Given the description of an element on the screen output the (x, y) to click on. 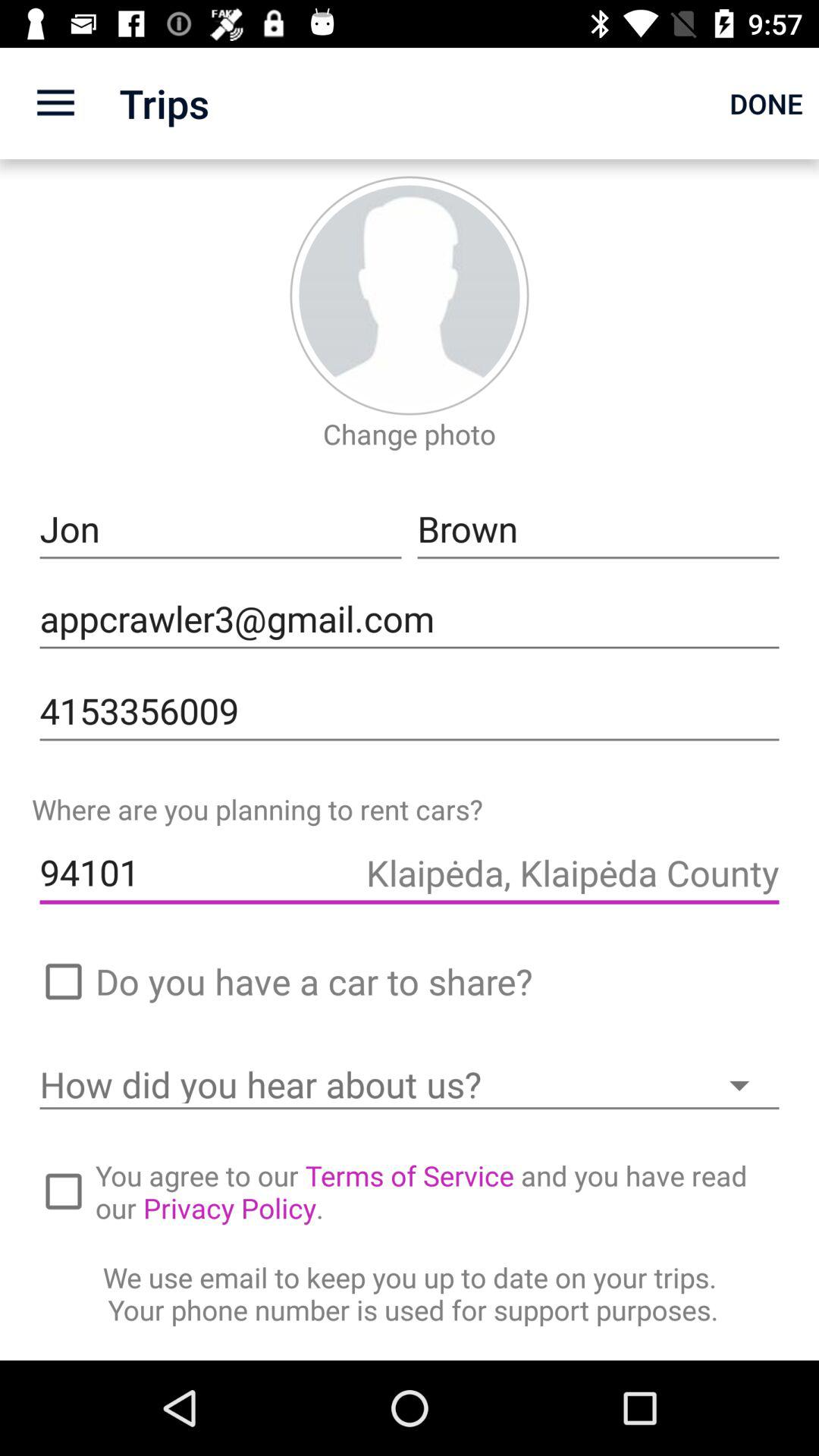
open icon to the right of jon item (598, 529)
